Given the description of an element on the screen output the (x, y) to click on. 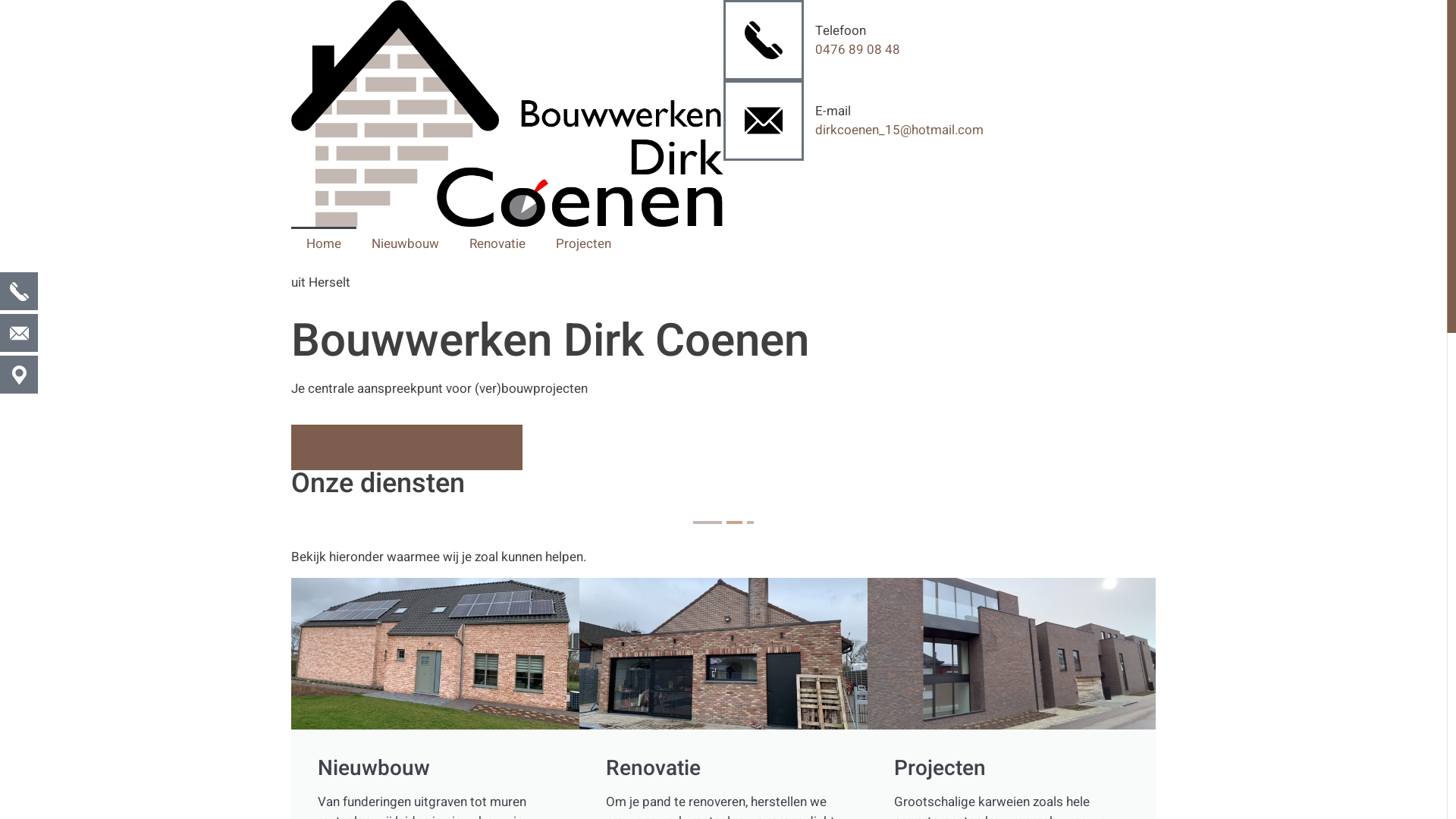
Renovatie Element type: text (497, 243)
E-mail Element type: text (832, 110)
0476 89 08 48 Element type: text (857, 49)
Projecten Element type: text (583, 243)
Home Element type: text (323, 243)
OFFERTE AANVRAGEN Element type: text (406, 447)
Nieuwbouw Element type: text (405, 243)
Telefoon Element type: text (840, 30)
dirkcoenen_15@hotmail.com Element type: text (899, 129)
